Given the description of an element on the screen output the (x, y) to click on. 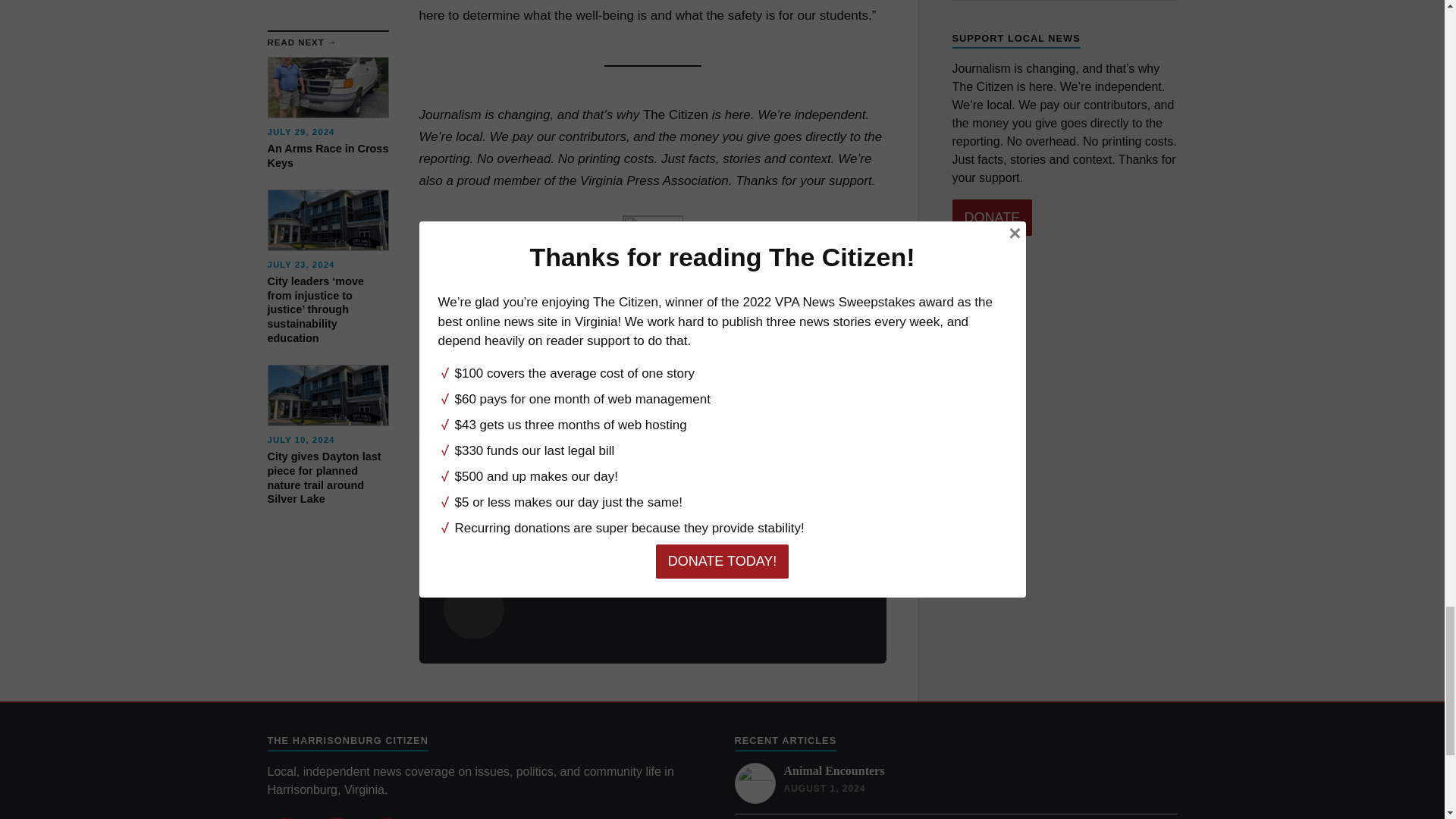
HARRISONBURG POLICE DEPARTMENT (740, 463)
Share on Twitter (621, 373)
SCHOOL RESOURCE OFFICER TASK FORCE (535, 486)
Share on Facebook (661, 373)
DONATE (652, 315)
Share on LinkedIn (700, 373)
HARRISONBURG CITY PUBLIC SCHOOLS (528, 463)
